Given the description of an element on the screen output the (x, y) to click on. 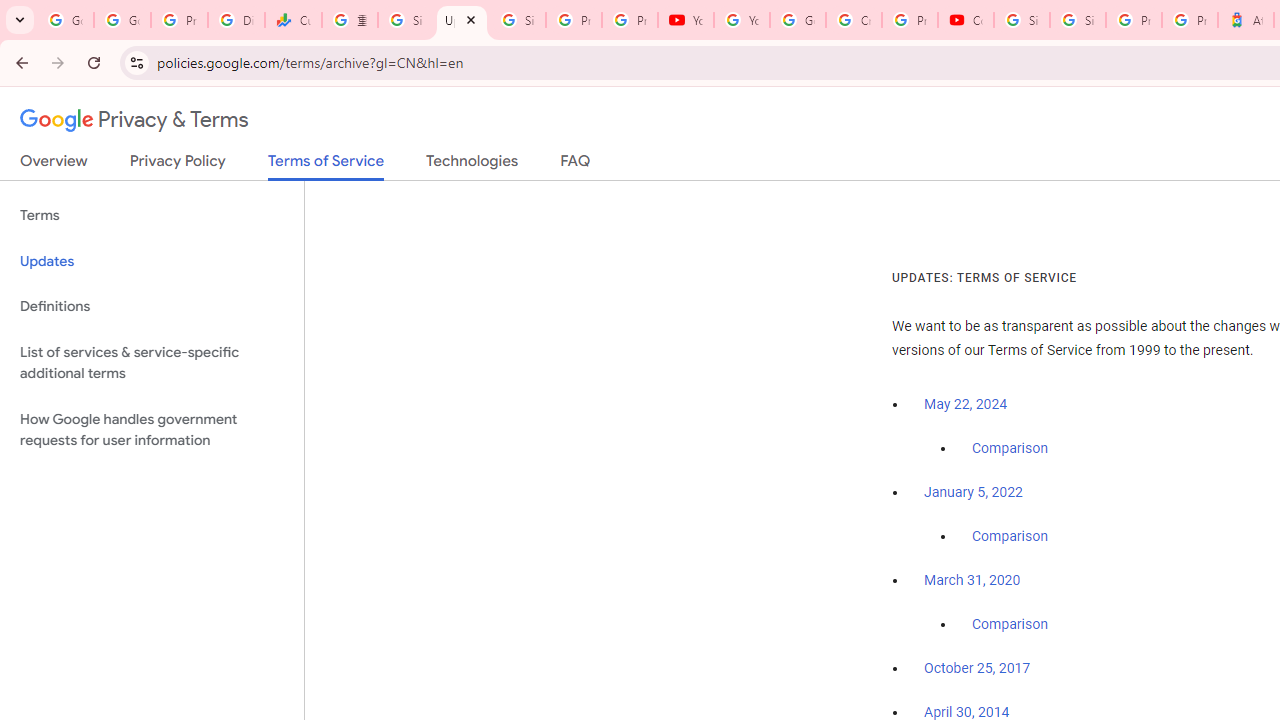
Overview (54, 165)
Google Workspace Admin Community (65, 20)
Sign in - Google Accounts (1077, 20)
May 22, 2024 (966, 404)
January 5, 2022 (973, 492)
March 31, 2020 (972, 580)
List of services & service-specific additional terms (152, 362)
Comparison (1009, 625)
